Given the description of an element on the screen output the (x, y) to click on. 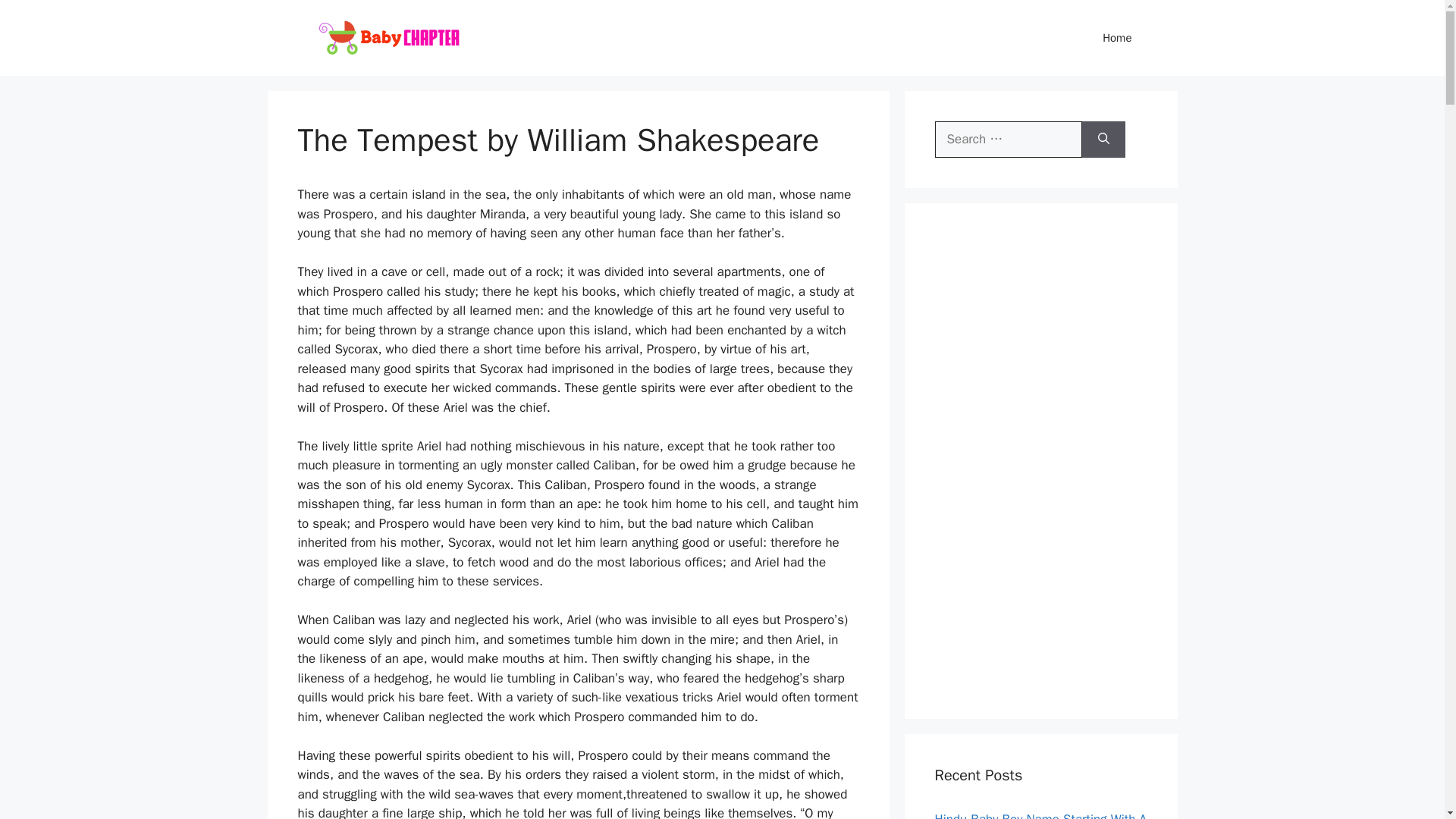
Home (1117, 37)
Search for: (1007, 139)
Hindu Baby Boy Name Starting With A Letter In 2024 (1039, 815)
